Given the description of an element on the screen output the (x, y) to click on. 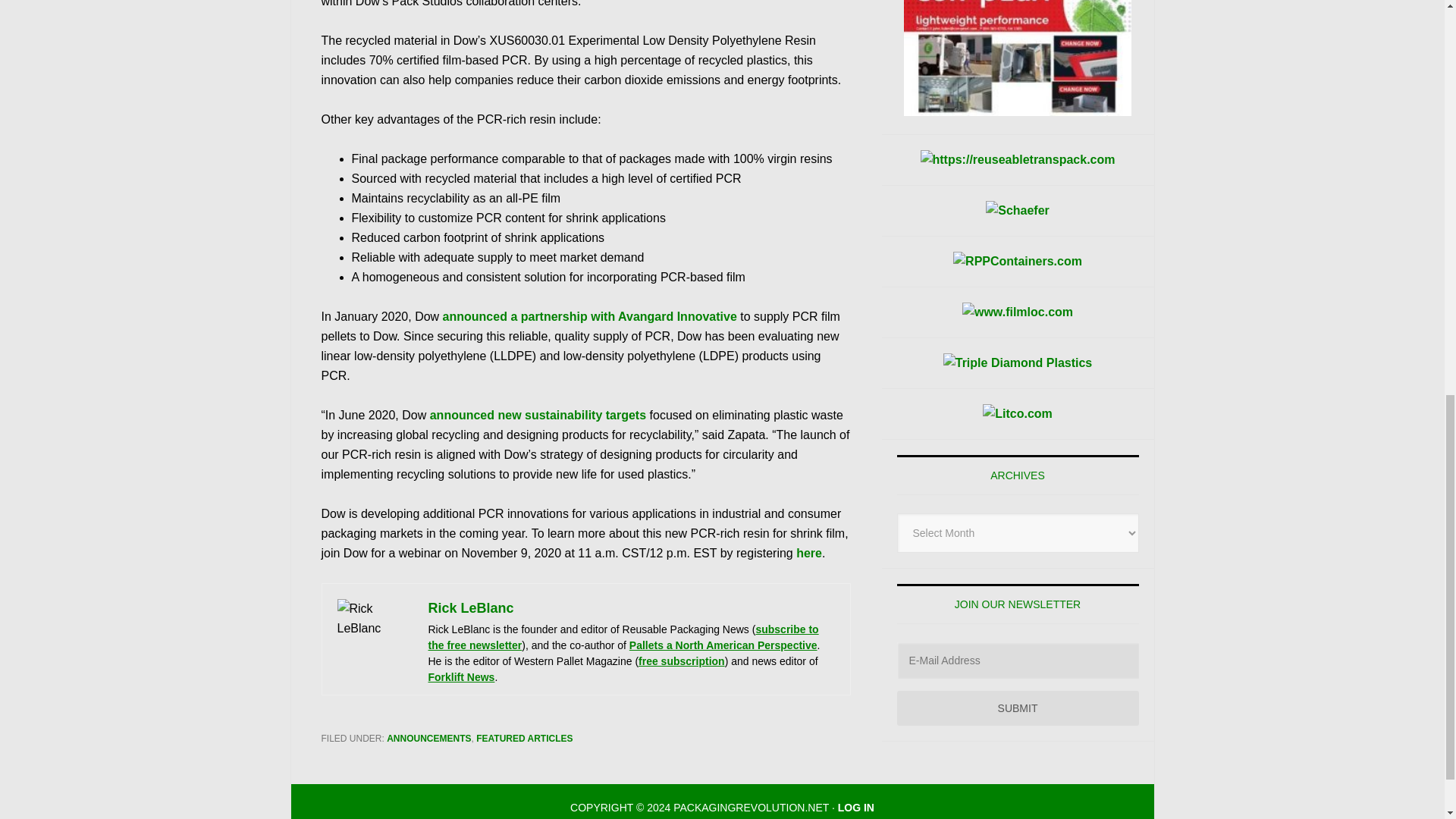
free subscription (682, 661)
ANNOUNCEMENTS (428, 738)
announced new sustainability targets (537, 414)
Forklift News (461, 676)
RPPContainers.com (1017, 261)
CONPearl (1017, 58)
Schaefer (1017, 210)
Rick LeBlanc (470, 607)
SUBMIT (1017, 708)
